Given the description of an element on the screen output the (x, y) to click on. 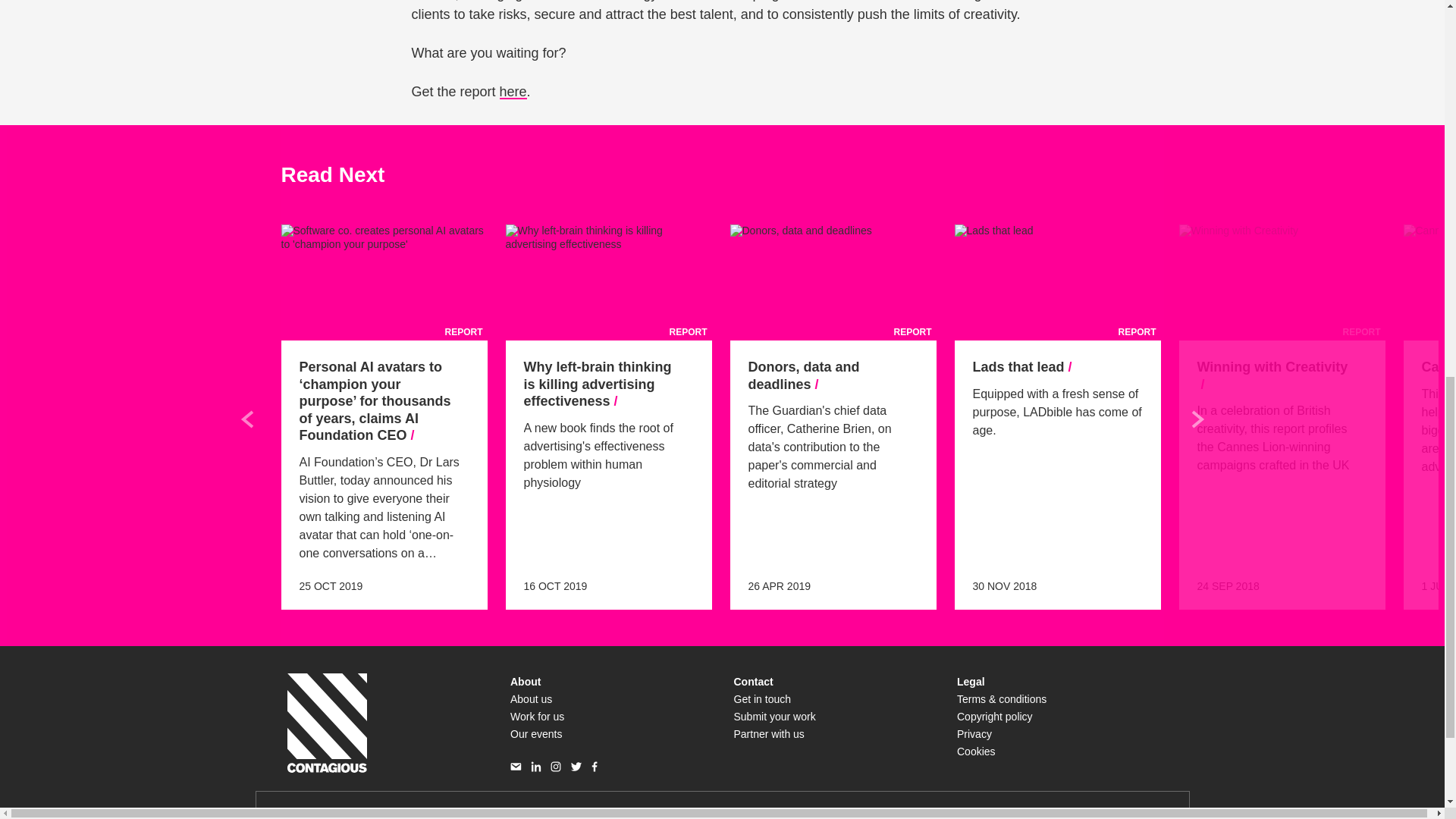
REPORT (383, 282)
REPORT (608, 282)
REPORT (1280, 282)
REPORT (832, 282)
here (513, 91)
REPORT (1056, 282)
